Given the description of an element on the screen output the (x, y) to click on. 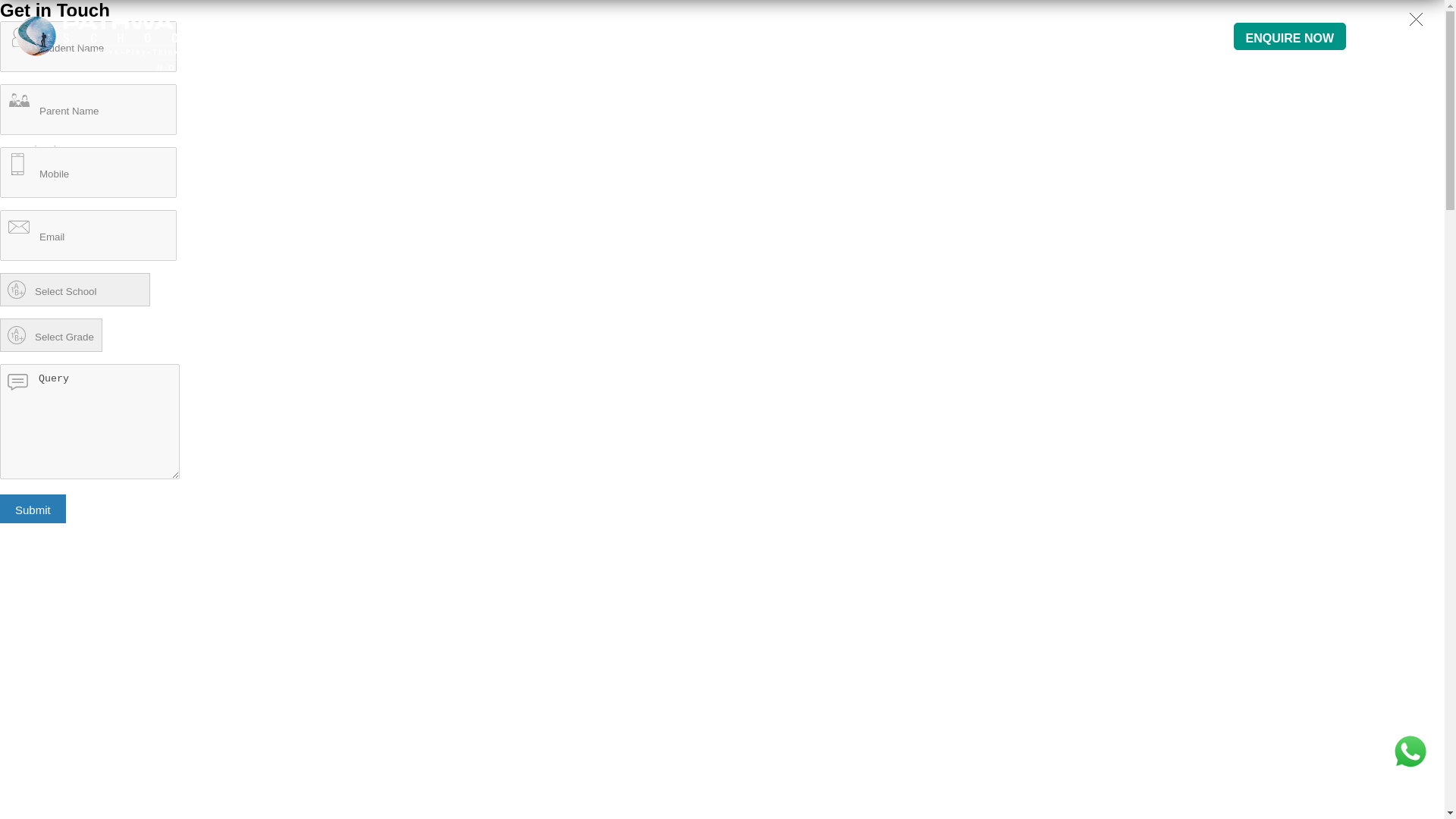
Submit (32, 508)
